Given the description of an element on the screen output the (x, y) to click on. 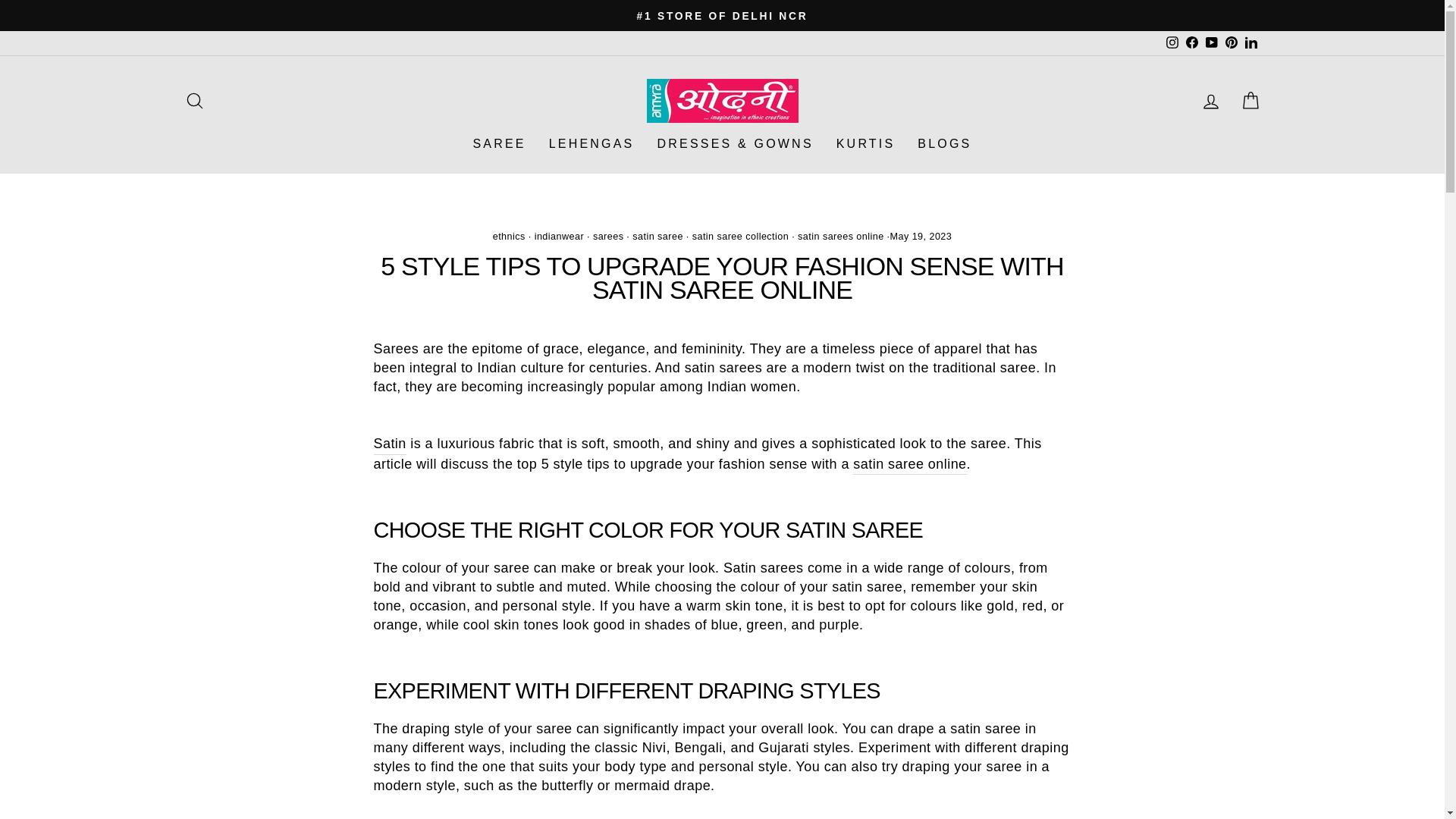
BLOGS (943, 143)
indianwear (558, 235)
KURTIS (866, 143)
SAREE (499, 143)
ethnics (509, 235)
LOG IN (1210, 100)
satin saree (656, 235)
SEARCH (194, 100)
LEHENGAS (591, 143)
sarees (608, 235)
CART (1249, 100)
